Given the description of an element on the screen output the (x, y) to click on. 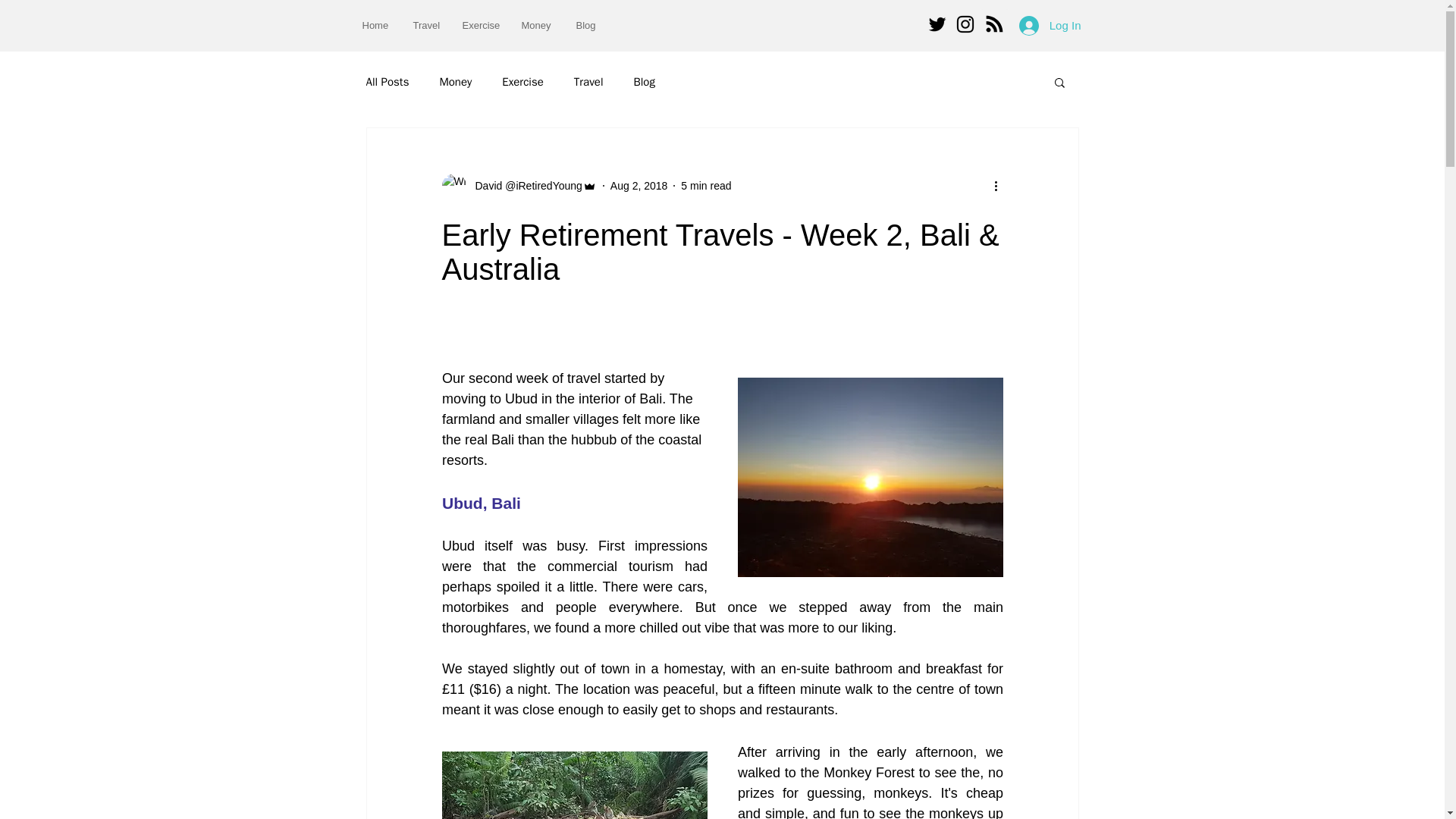
5 min read (705, 184)
Travel (588, 81)
Blog (643, 81)
All Posts (387, 81)
Money (455, 81)
Travel (426, 25)
Aug 2, 2018 (639, 184)
Log In (1050, 24)
Exercise (522, 81)
Exercise (479, 25)
